Given the description of an element on the screen output the (x, y) to click on. 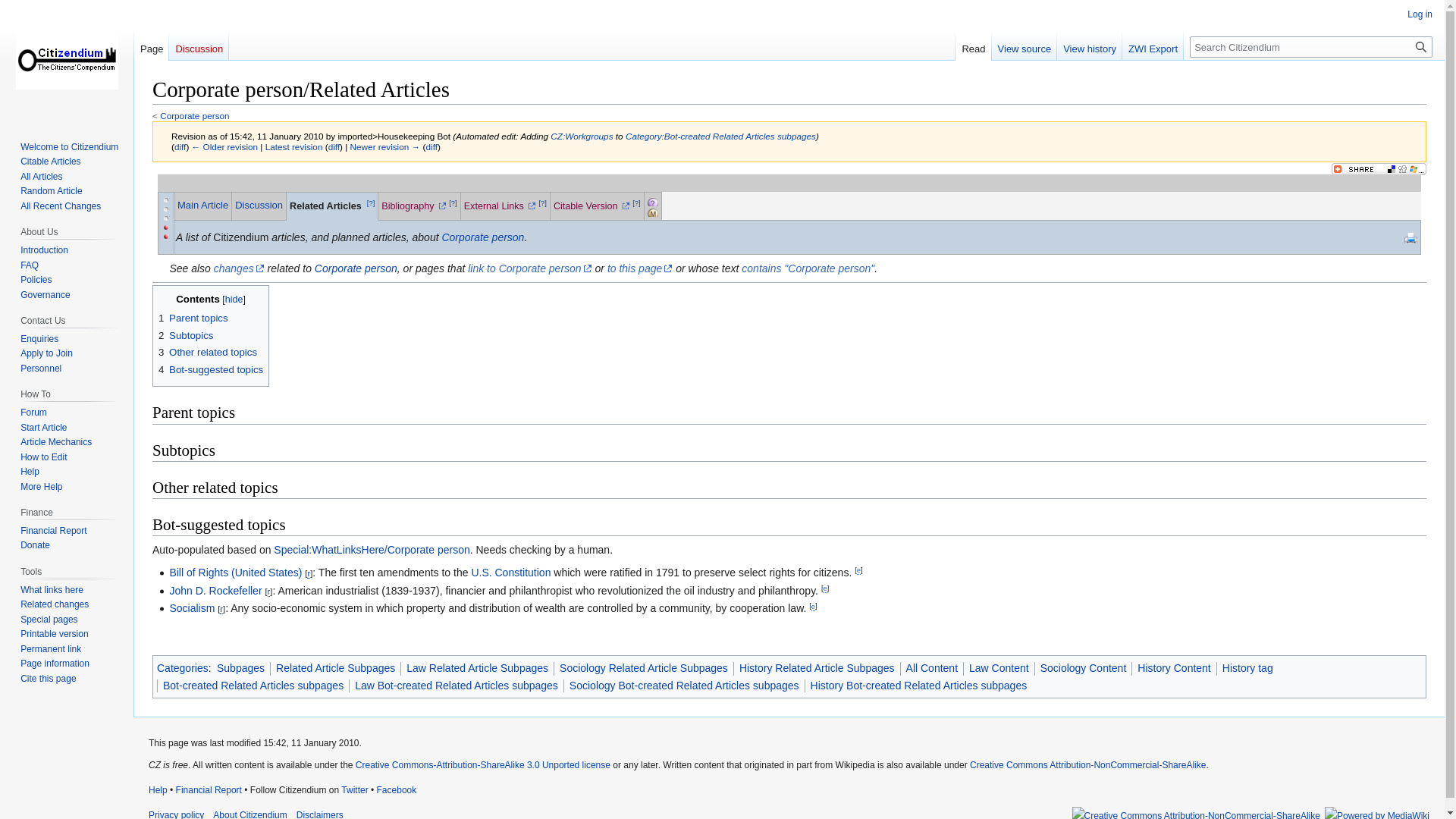
CZ:Workgroups (581, 135)
to this page (639, 268)
CZ:Workgroups (581, 135)
diff (180, 146)
Related Articles (326, 205)
CZ:Subpages (667, 200)
3 Other related topics (207, 351)
1 Parent topics (193, 317)
Corporate person (202, 204)
